Given the description of an element on the screen output the (x, y) to click on. 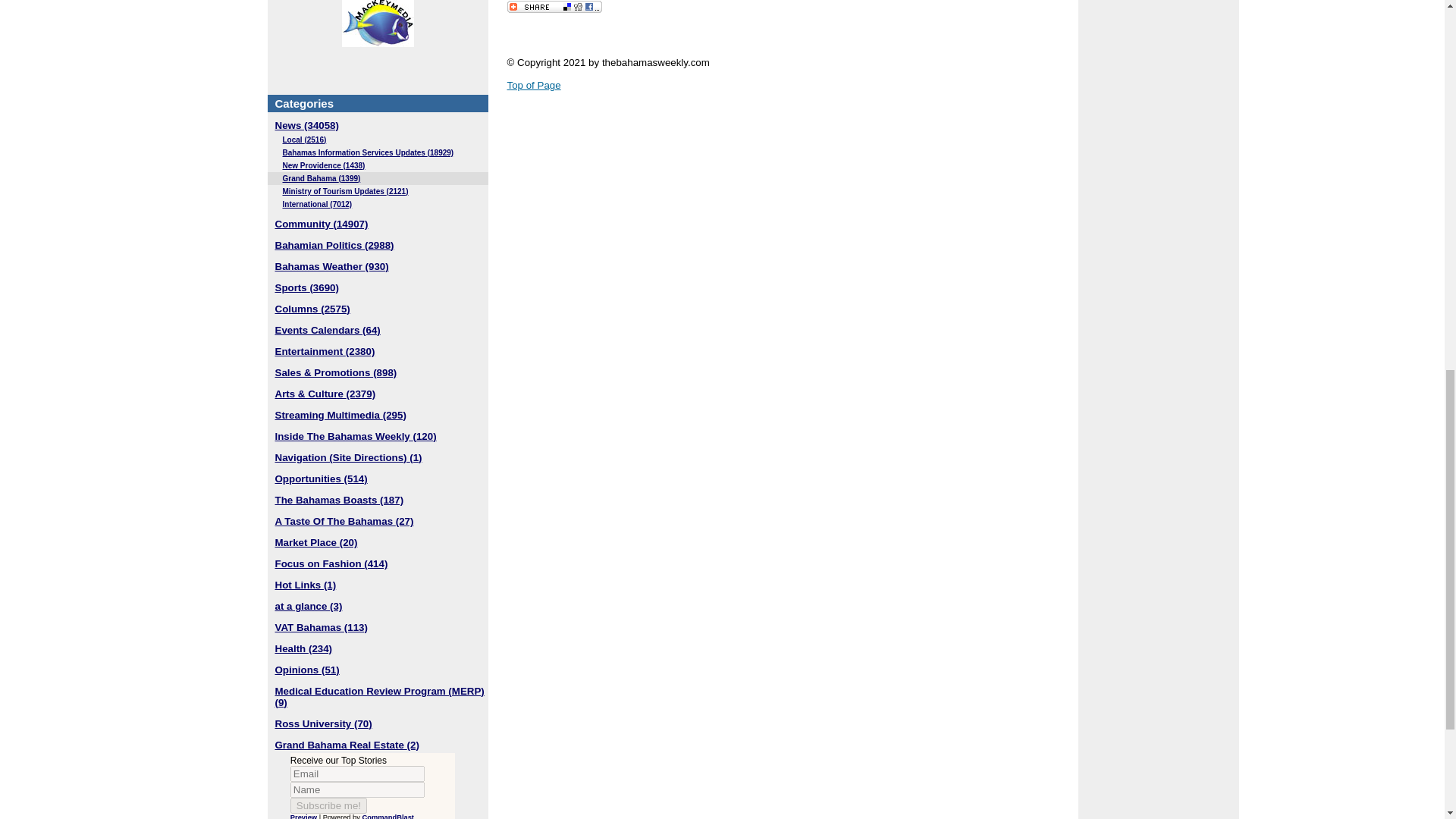
Subscribe me! (327, 805)
